Given the description of an element on the screen output the (x, y) to click on. 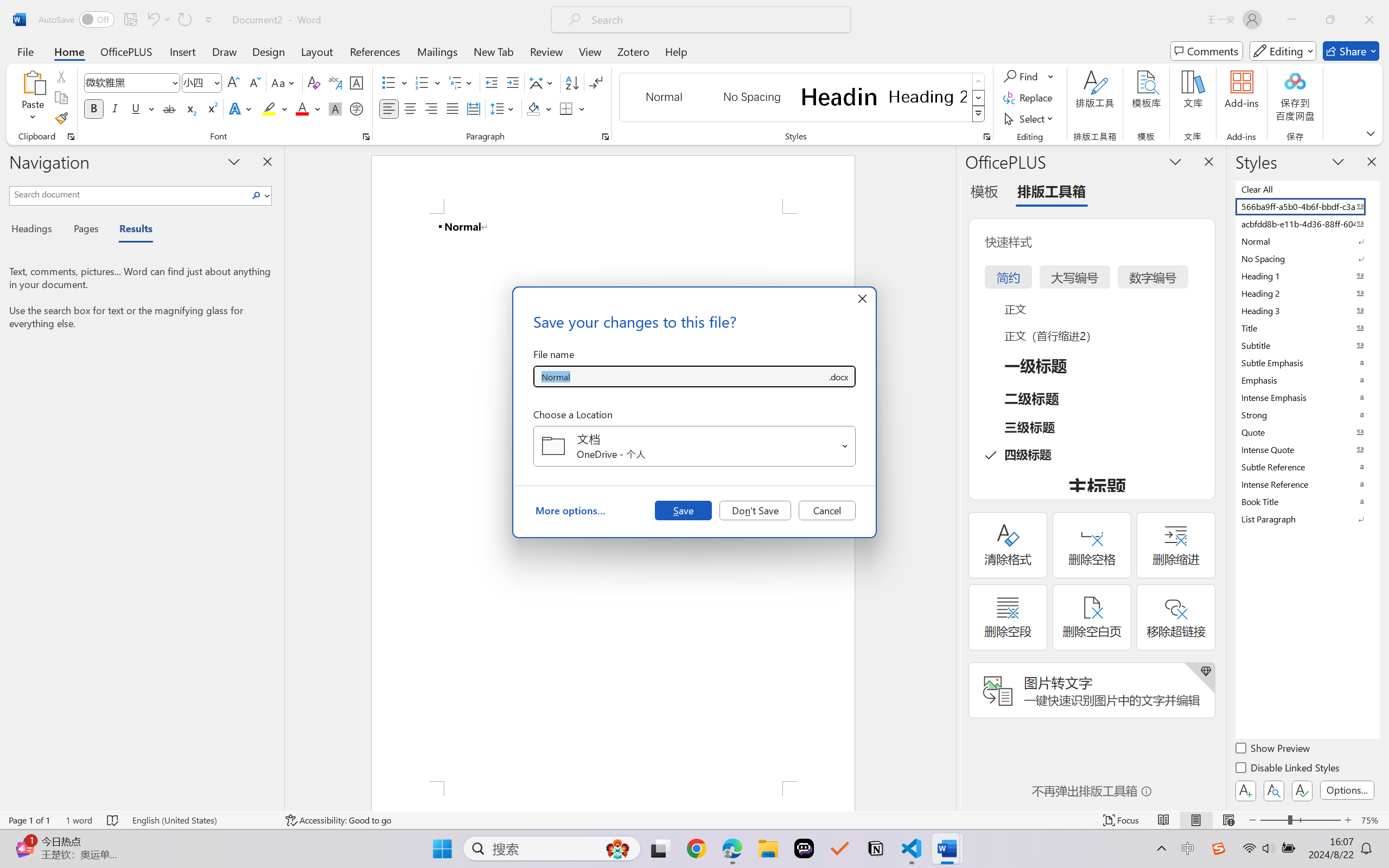
Draw (224, 51)
Strong (1306, 414)
Strikethrough (169, 108)
Close (1369, 19)
Review (546, 51)
Zotero (632, 51)
Decrease Indent (491, 82)
Ribbon Display Options (1370, 132)
AutoSave (76, 19)
